Given the description of an element on the screen output the (x, y) to click on. 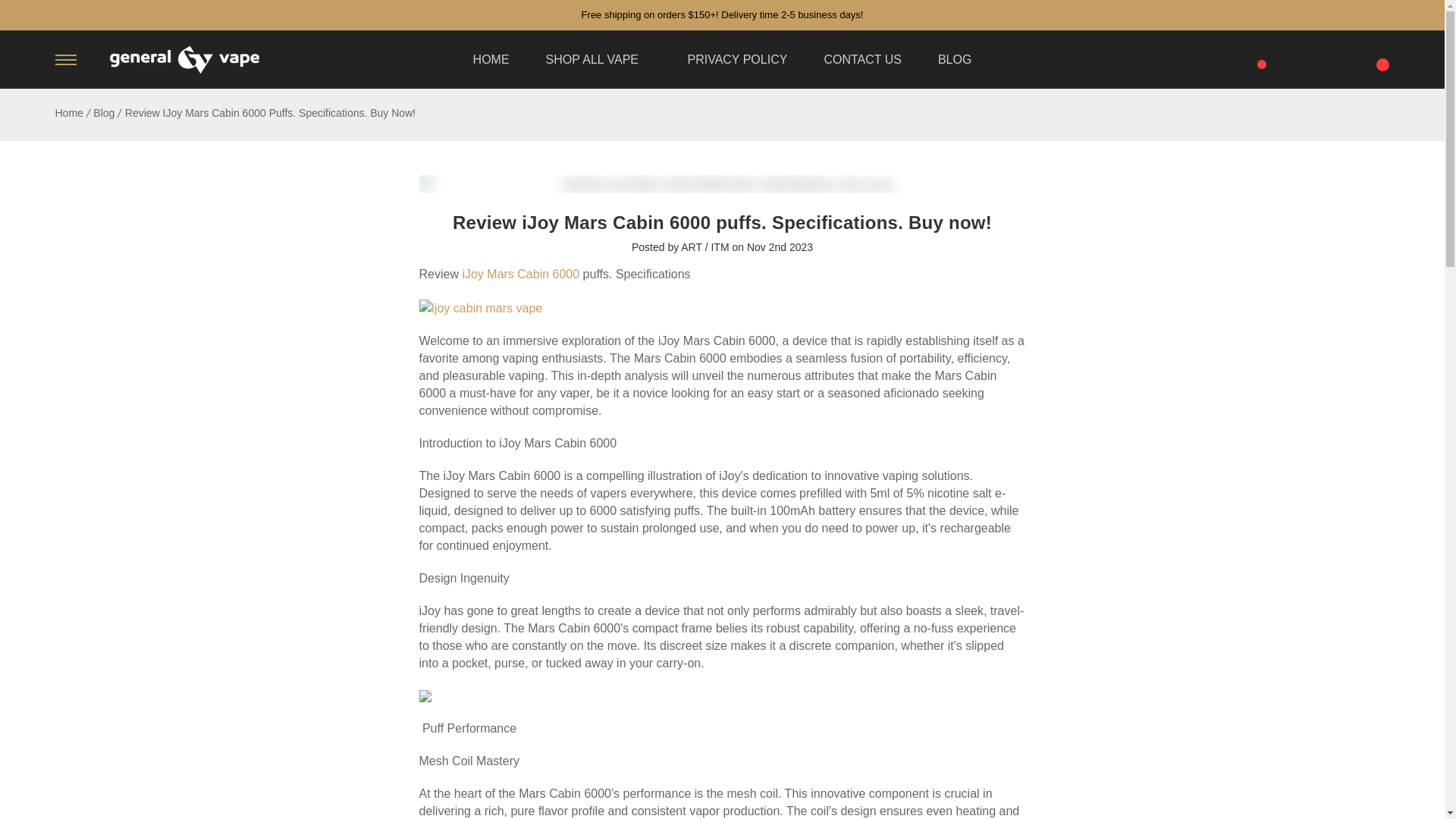
CONTACT US (862, 59)
General Vape (183, 60)
SHOP ALL VAPE (598, 59)
PRIVACY POLICY (737, 59)
